Given the description of an element on the screen output the (x, y) to click on. 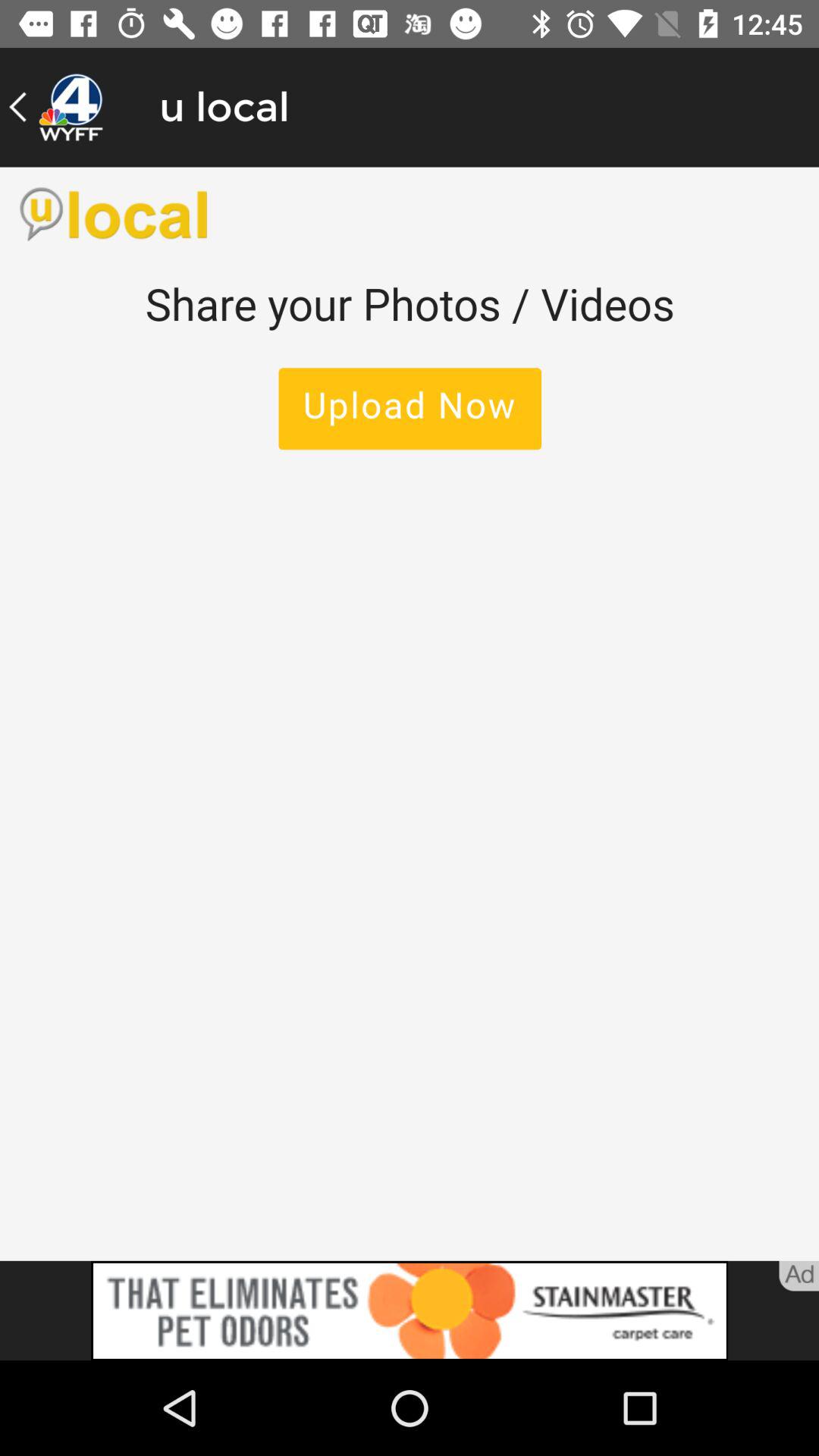
upload photos/videos (409, 713)
